Given the description of an element on the screen output the (x, y) to click on. 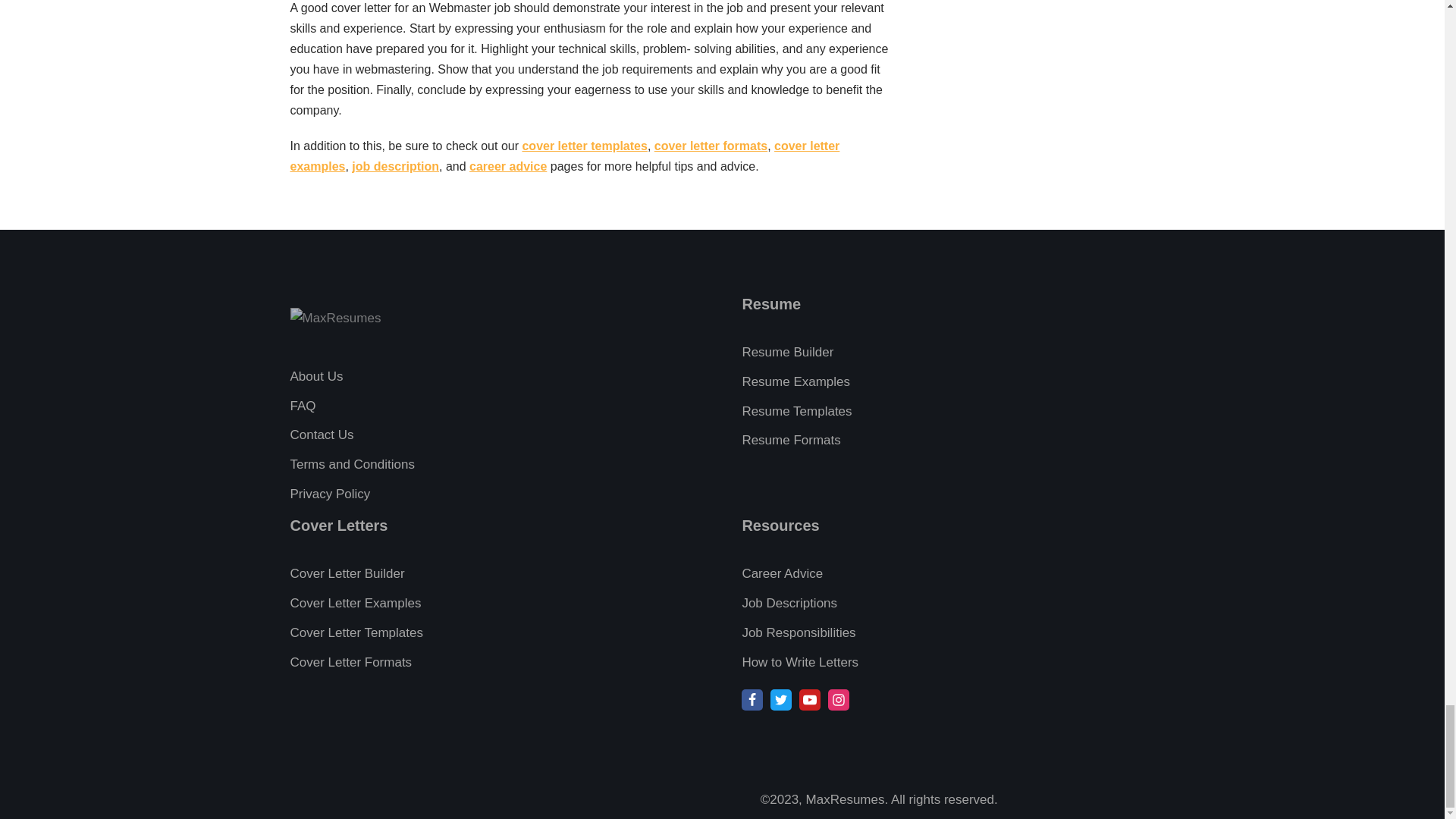
Facebook (751, 699)
Youtube (810, 699)
Twitter (781, 699)
Instagram (838, 699)
